Given the description of an element on the screen output the (x, y) to click on. 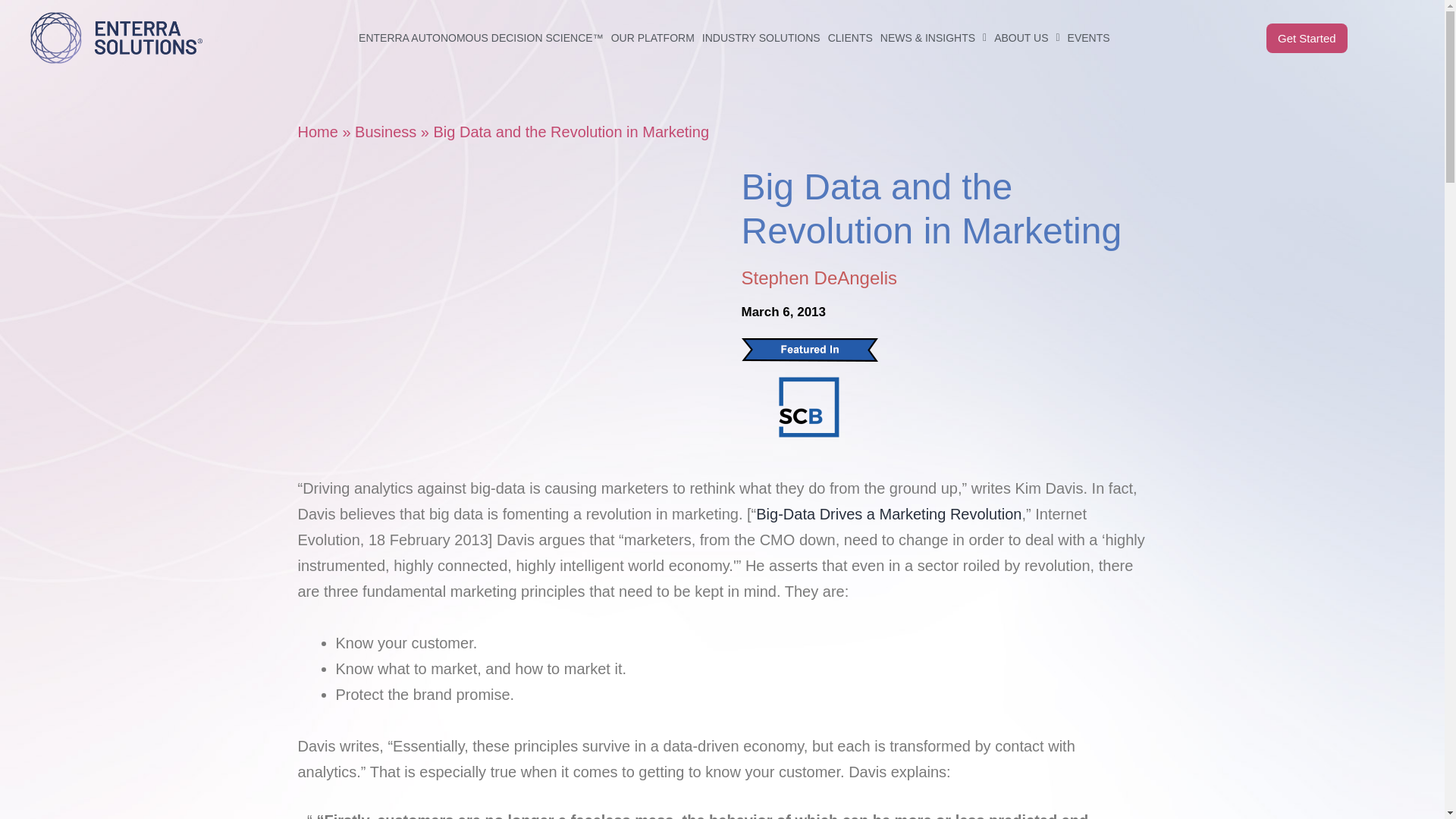
CLIENTS (850, 9)
Business (385, 131)
supplu-chain (807, 406)
OUR PLATFORM (652, 6)
ABOUT US (1026, 22)
EVENTS (1088, 27)
INDUSTRY SOLUTIONS (761, 8)
ig-Data Drives a Marketing Revolution (888, 514)
Get Started (1307, 36)
Home (317, 131)
